Given the description of an element on the screen output the (x, y) to click on. 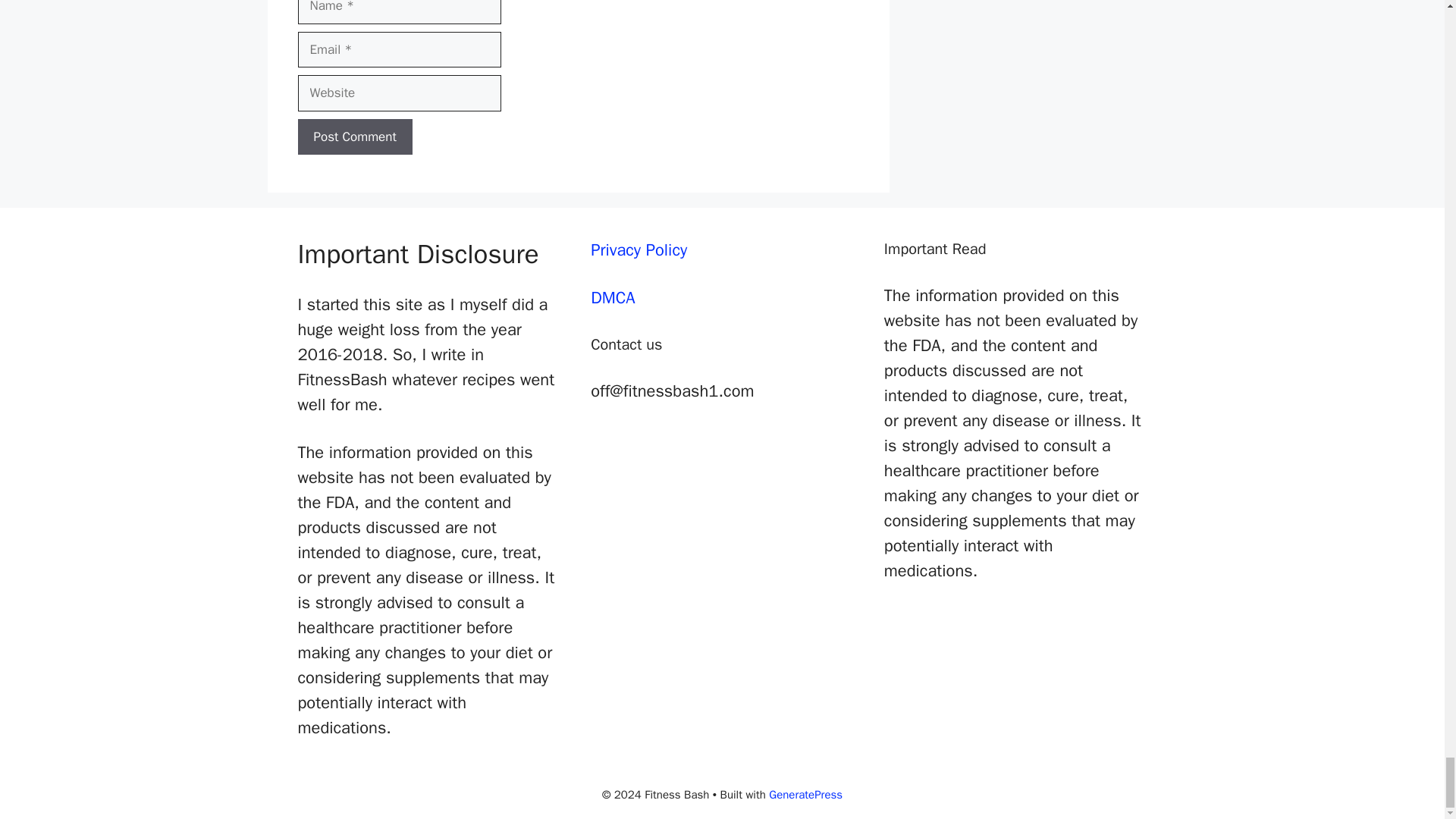
Post Comment (354, 136)
